Given the description of an element on the screen output the (x, y) to click on. 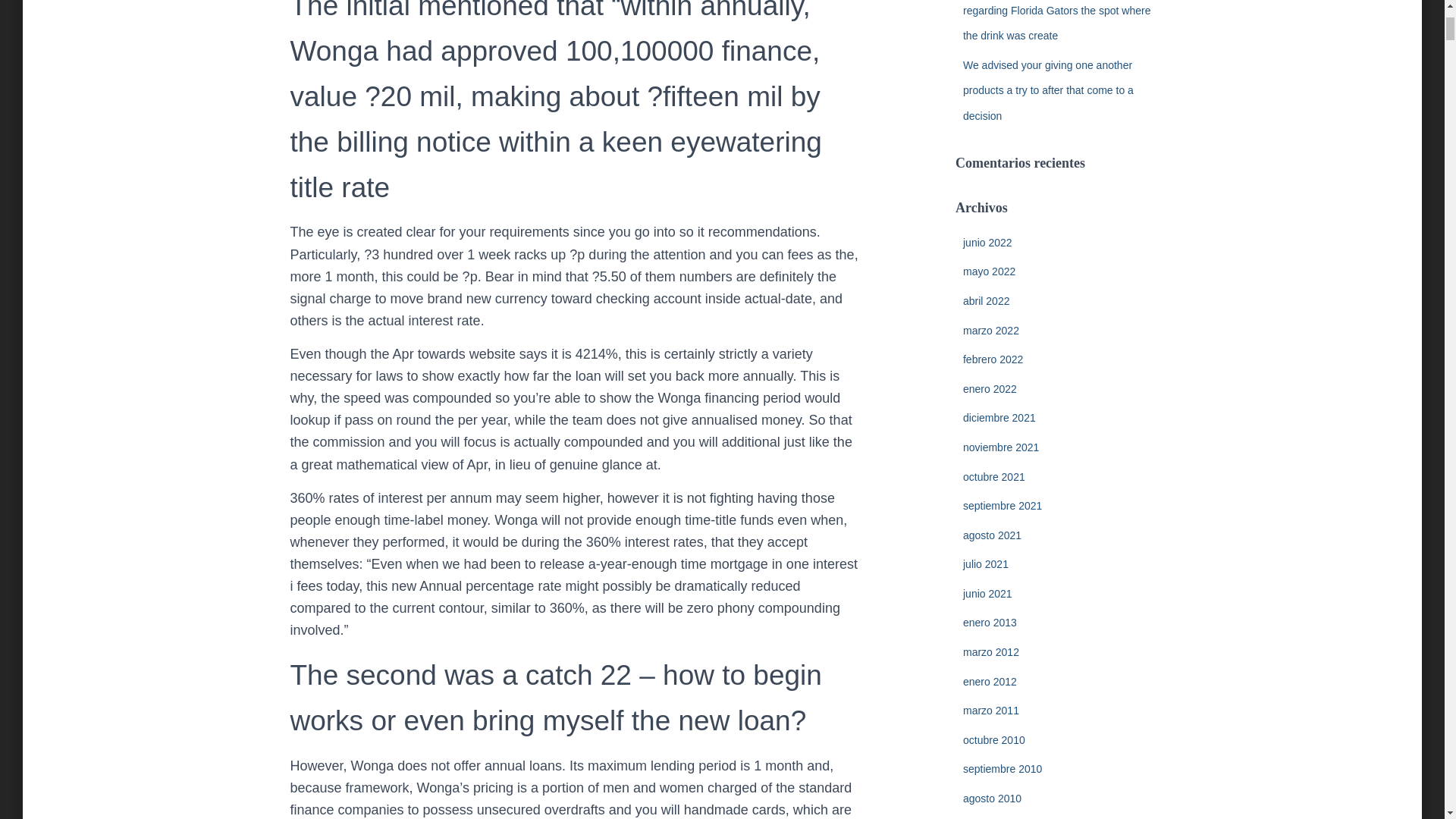
enero 2012 (989, 681)
agosto 2021 (992, 535)
enero 2013 (989, 622)
septiembre 2010 (1002, 768)
agosto 2010 (992, 798)
marzo 2022 (990, 330)
junio 2021 (986, 593)
septiembre 2021 (1002, 505)
marzo 2012 (990, 652)
noviembre 2021 (1000, 447)
octubre 2010 (993, 739)
mayo 2022 (988, 271)
abril 2022 (986, 300)
